Given the description of an element on the screen output the (x, y) to click on. 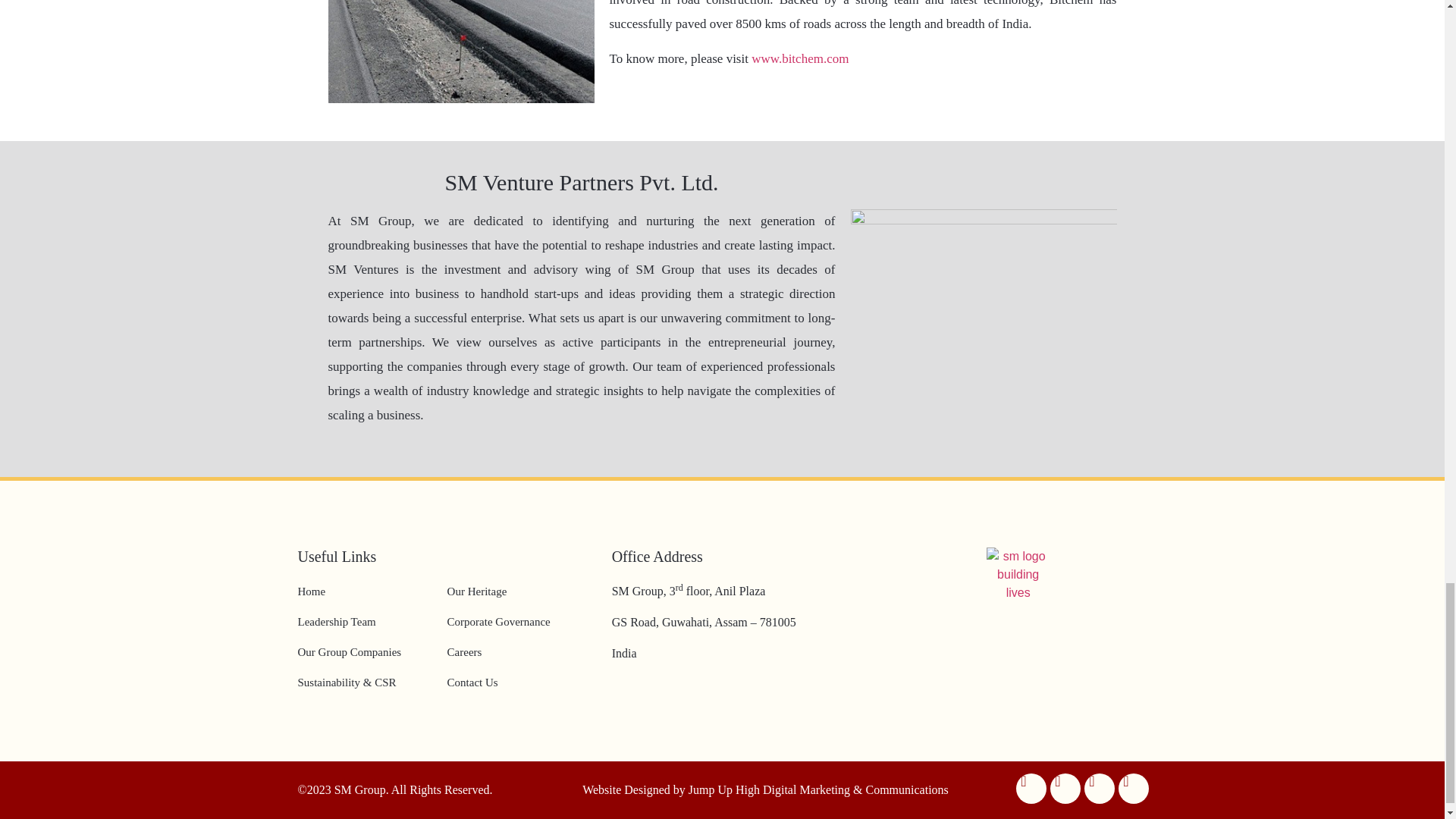
SM Group, Anil Plaza GS Road, Guwahati, Assam 781001 (1018, 664)
Our Heritage (476, 591)
Corporate Governance (498, 621)
Leadership Team (336, 621)
Careers (463, 652)
Contact Us (471, 682)
Our Group Companies (349, 652)
sm logo building lives (1018, 574)
Home (310, 591)
www.bitchem.com (799, 58)
